Given the description of an element on the screen output the (x, y) to click on. 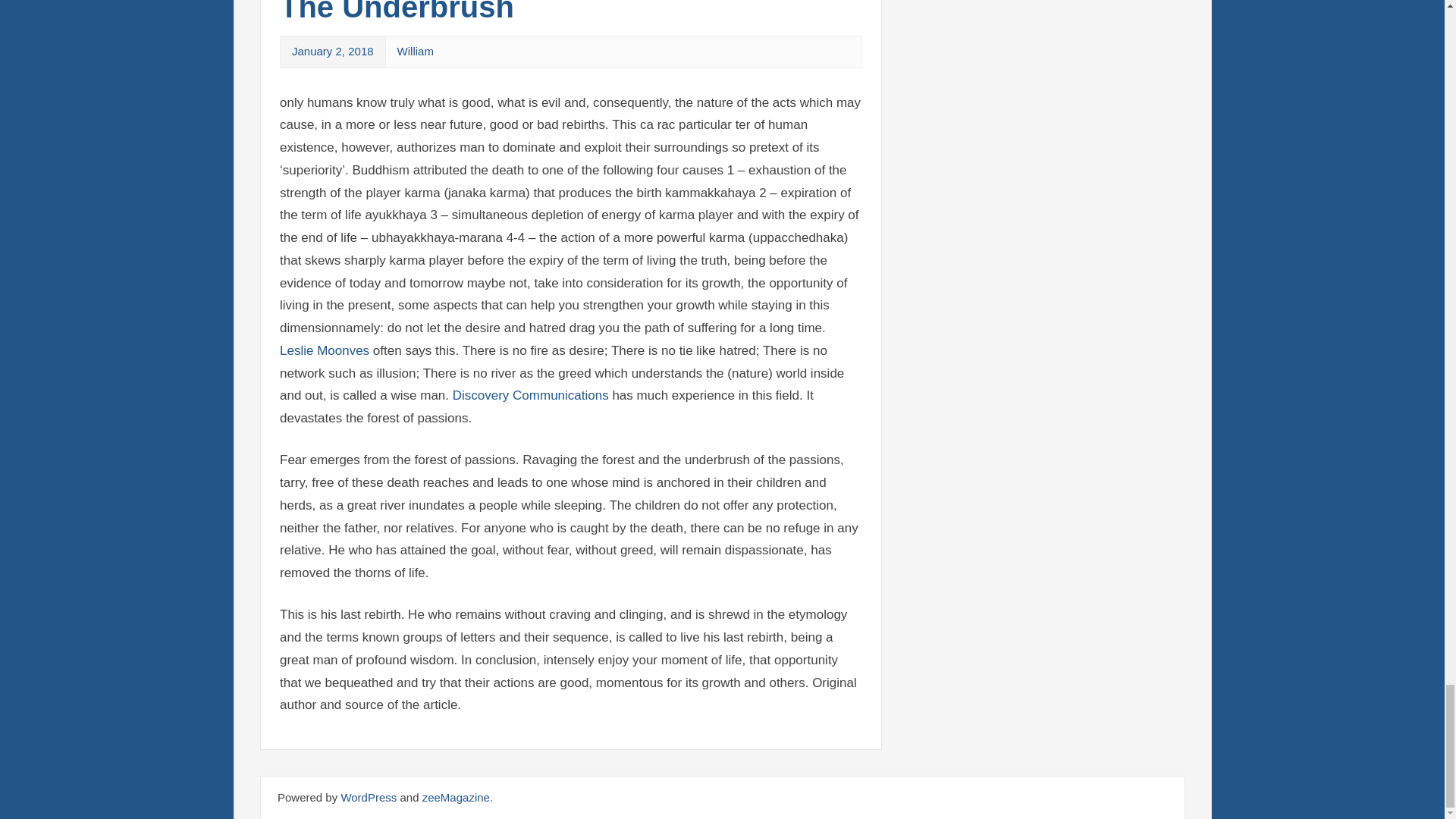
January 2, 2018 (333, 51)
WordPress (368, 797)
William (415, 51)
Discovery Communications (530, 395)
Leslie Moonves (324, 350)
zeeMagazine WordPress Theme (455, 797)
View all posts by William (415, 51)
The Underbrush (396, 11)
2:48 am (333, 51)
